Given the description of an element on the screen output the (x, y) to click on. 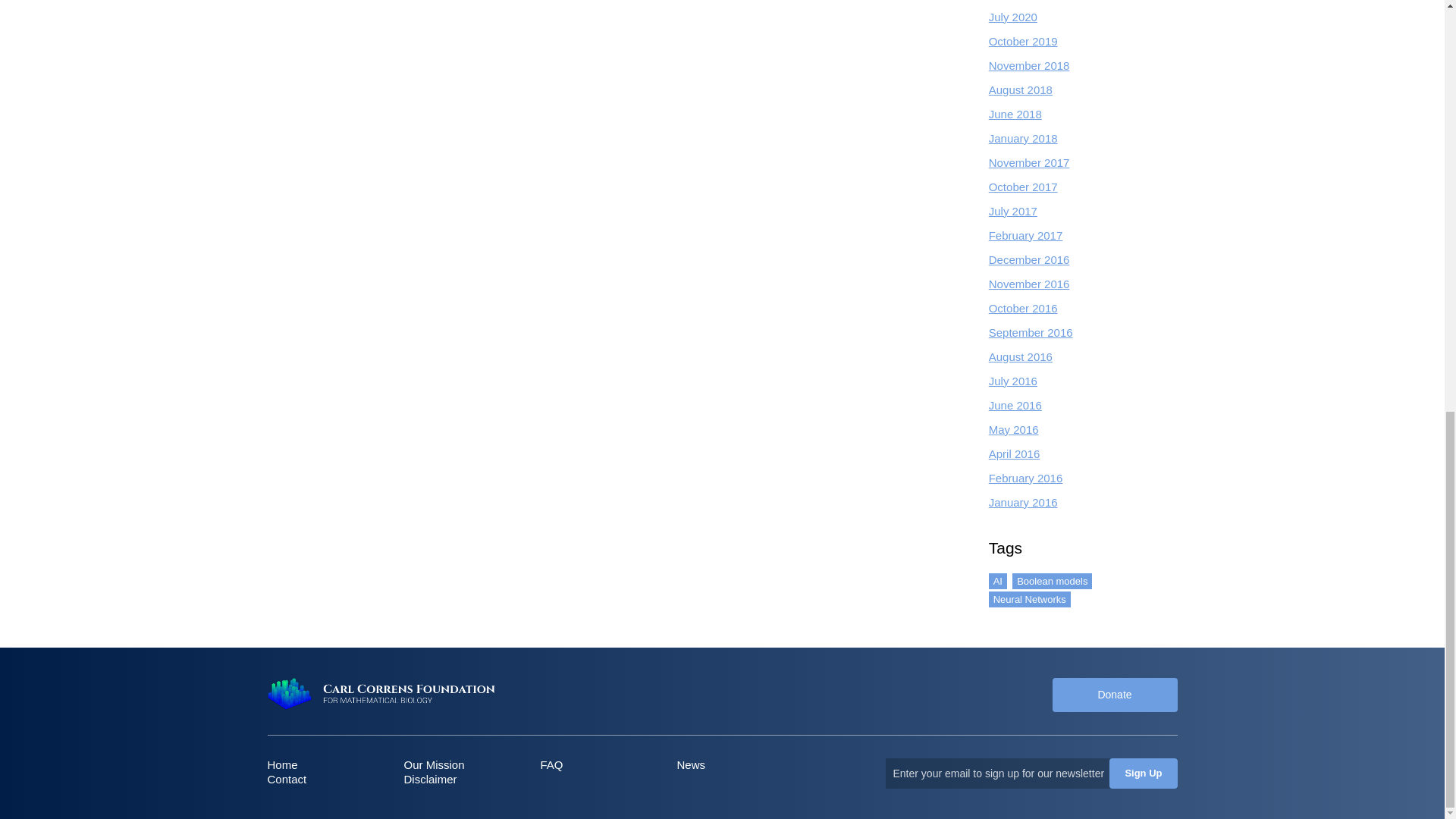
Sign Up (1142, 773)
July 2020 (1012, 16)
